Given the description of an element on the screen output the (x, y) to click on. 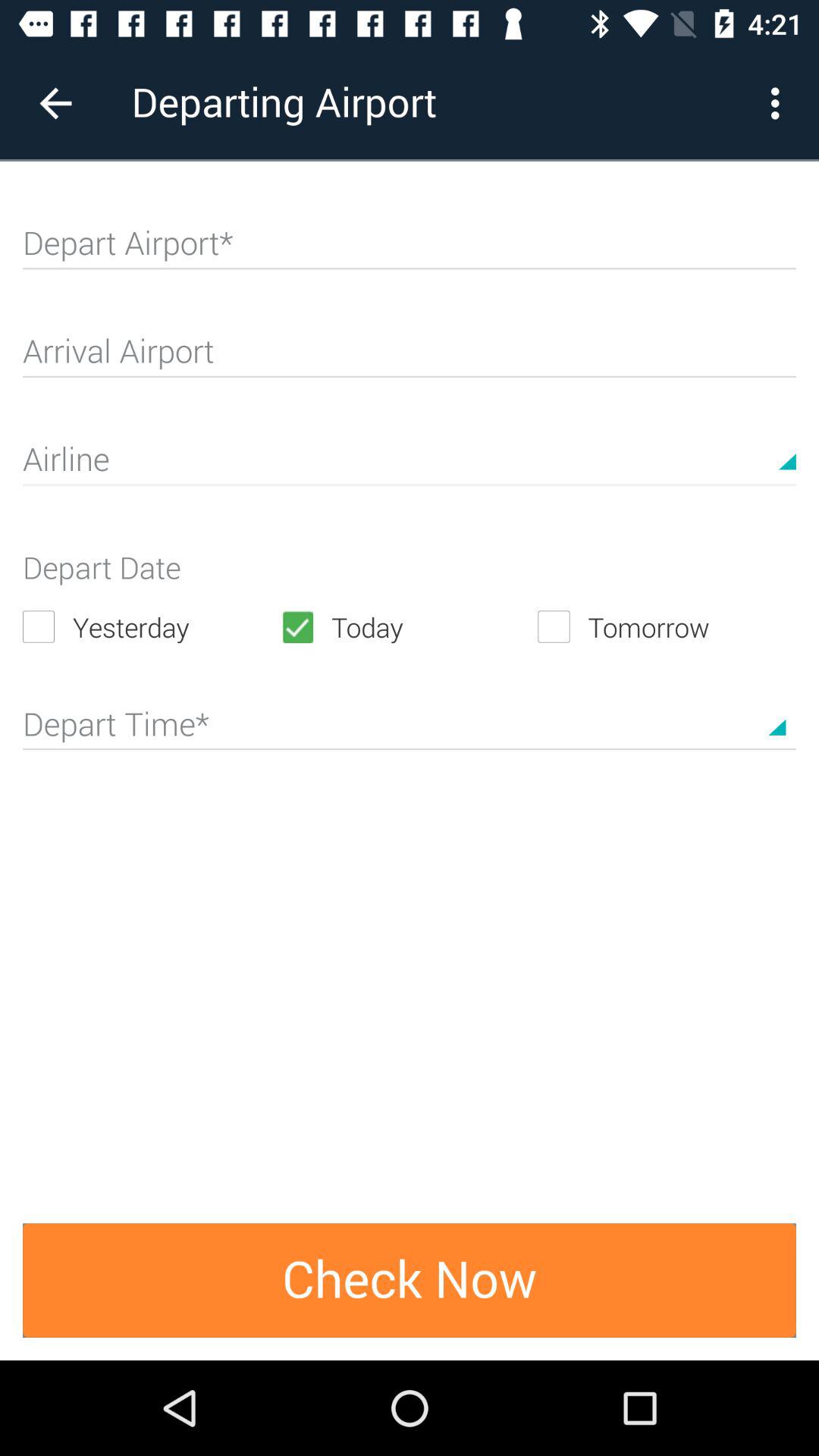
click the item next to the yesterday icon (409, 626)
